Given the description of an element on the screen output the (x, y) to click on. 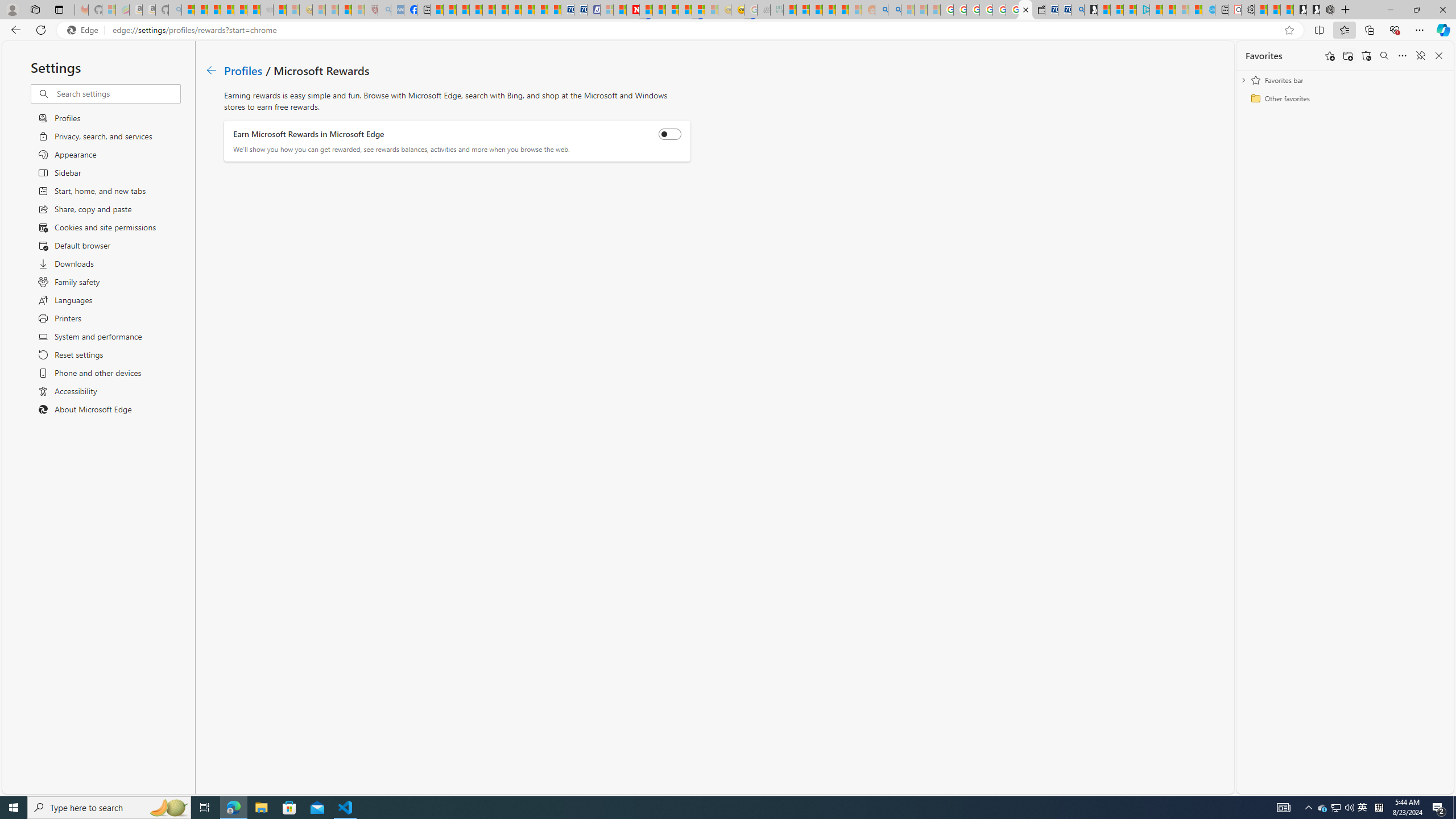
Latest Politics News & Archive | Newsweek.com (633, 9)
Unpin favorites (1420, 55)
Bing Real Estate - Home sales and rental listings (1077, 9)
